Given the description of an element on the screen output the (x, y) to click on. 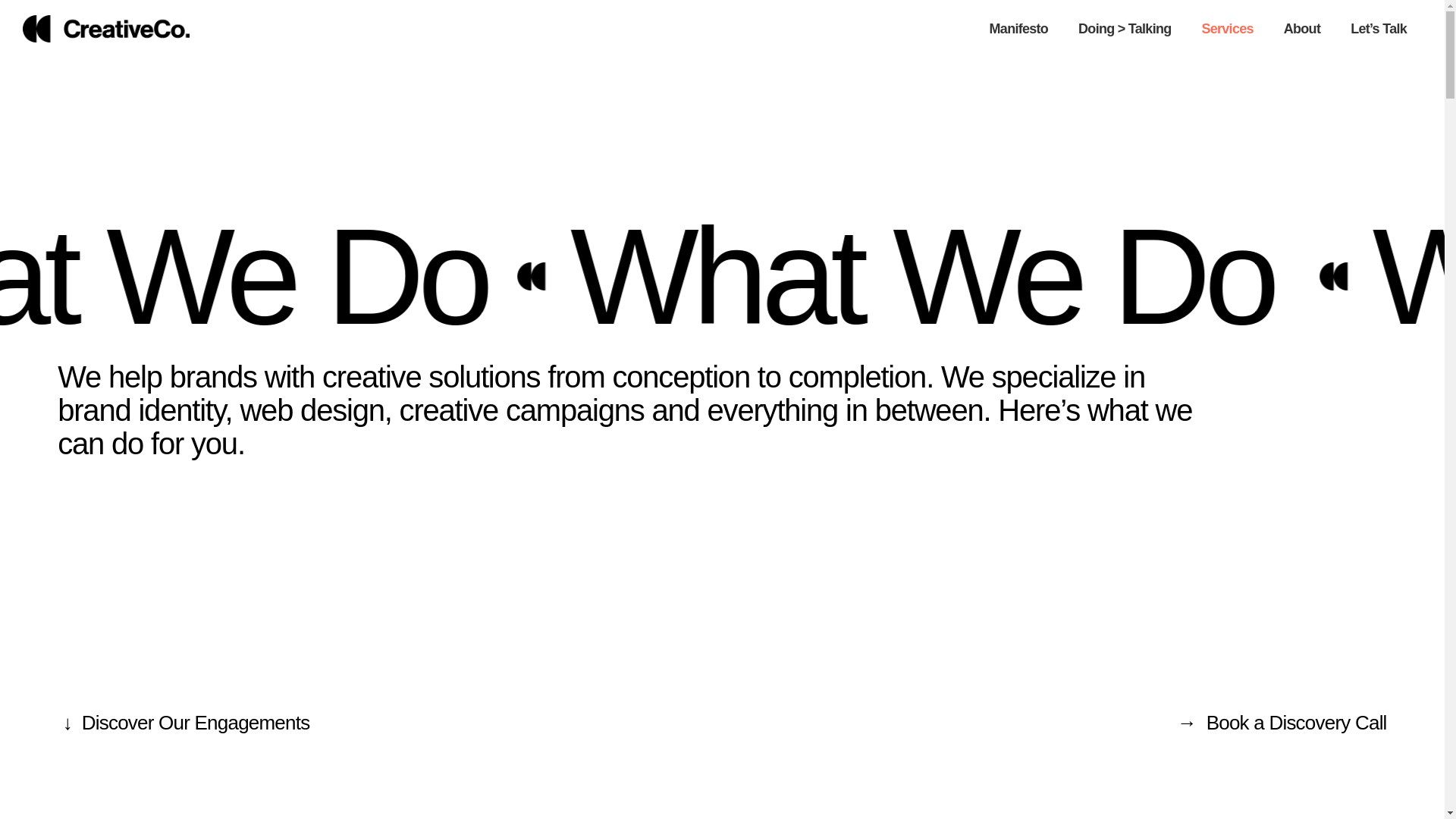
About (1301, 28)
Manifesto (1019, 28)
About (1301, 28)
Services (1227, 28)
Services (1227, 28)
Manifesto (1019, 28)
Discover Our Engagements (195, 722)
